Given the description of an element on the screen output the (x, y) to click on. 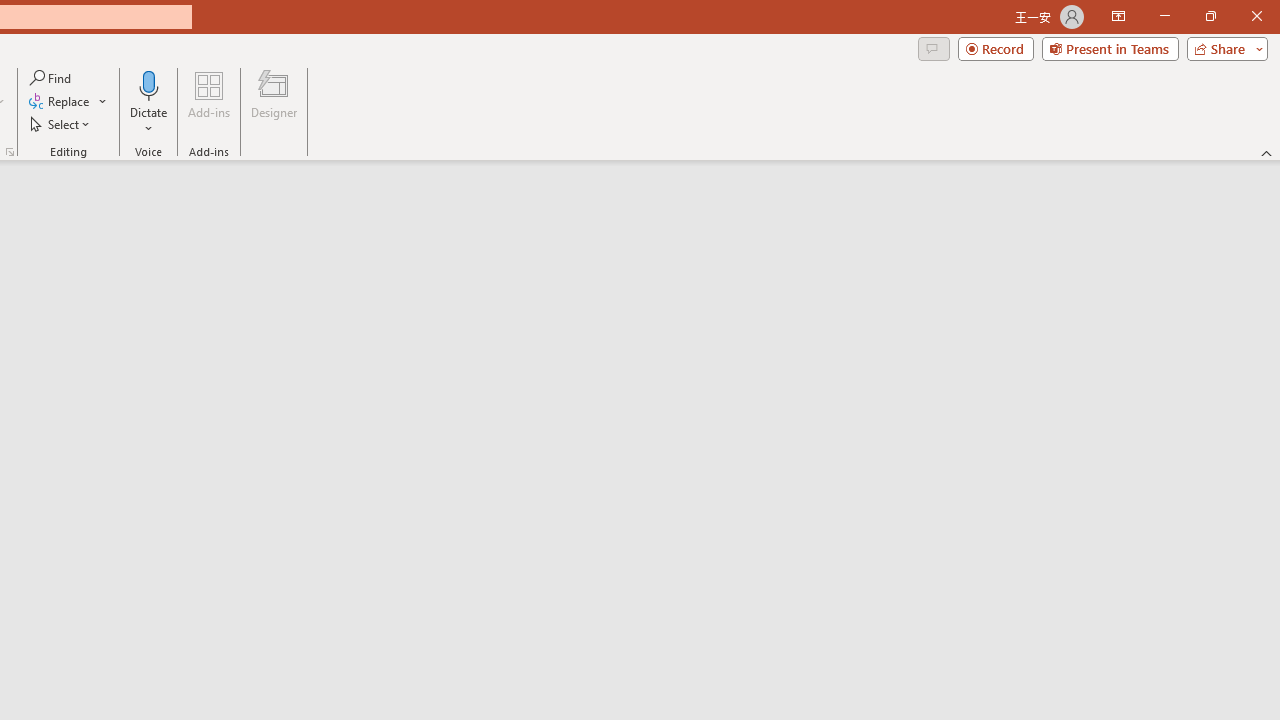
Select (61, 124)
Designer (274, 102)
Replace... (60, 101)
Format Object... (9, 151)
Dictate (149, 84)
Dictate (149, 102)
